Given the description of an element on the screen output the (x, y) to click on. 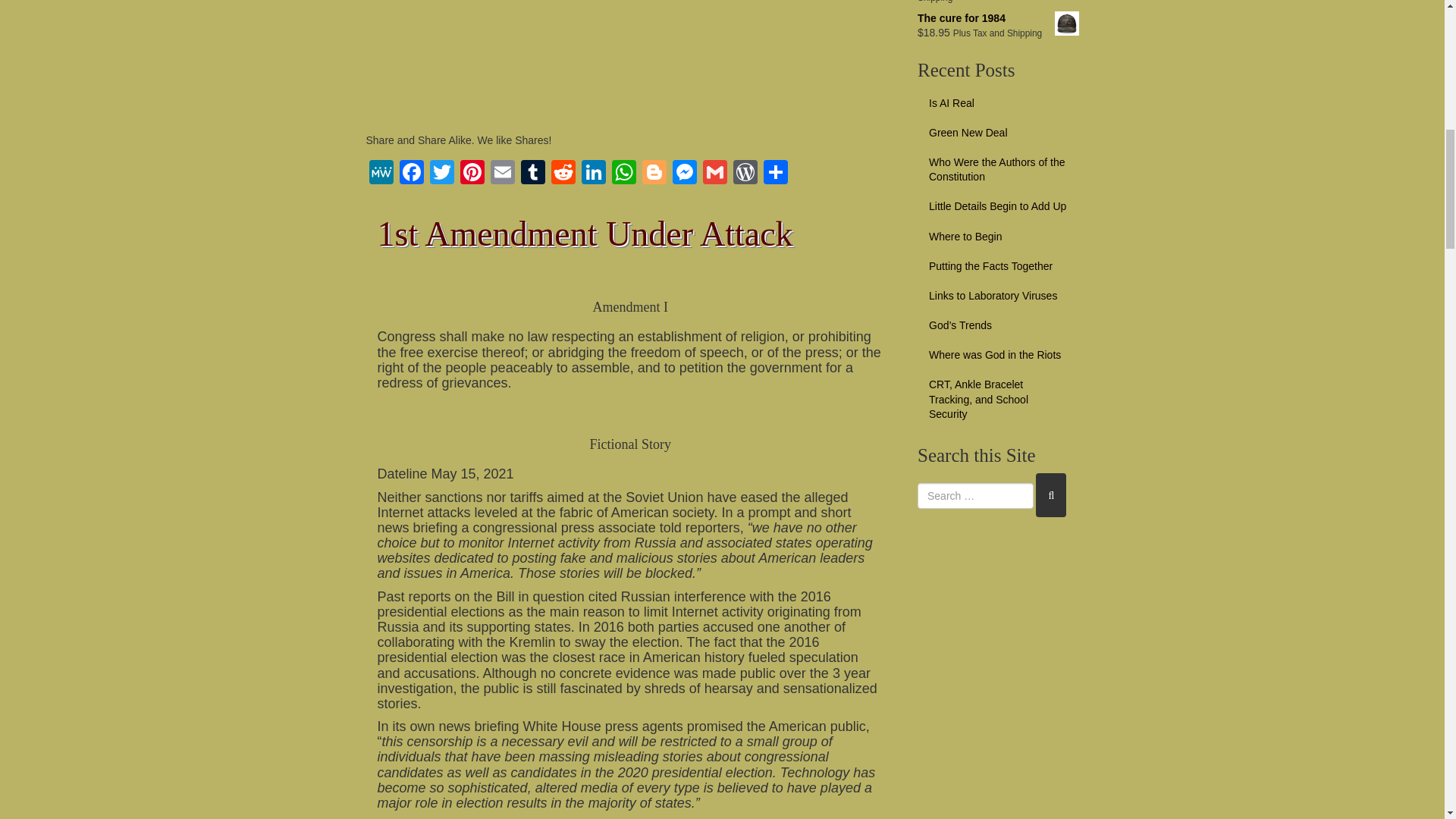
MeWe (380, 173)
Twitter (441, 173)
WhatsApp (623, 173)
Blogger (653, 173)
LinkedIn (593, 173)
Pinterest (471, 173)
Email (501, 173)
Reddit (562, 173)
Tumblr (531, 173)
Facebook (411, 173)
